Given the description of an element on the screen output the (x, y) to click on. 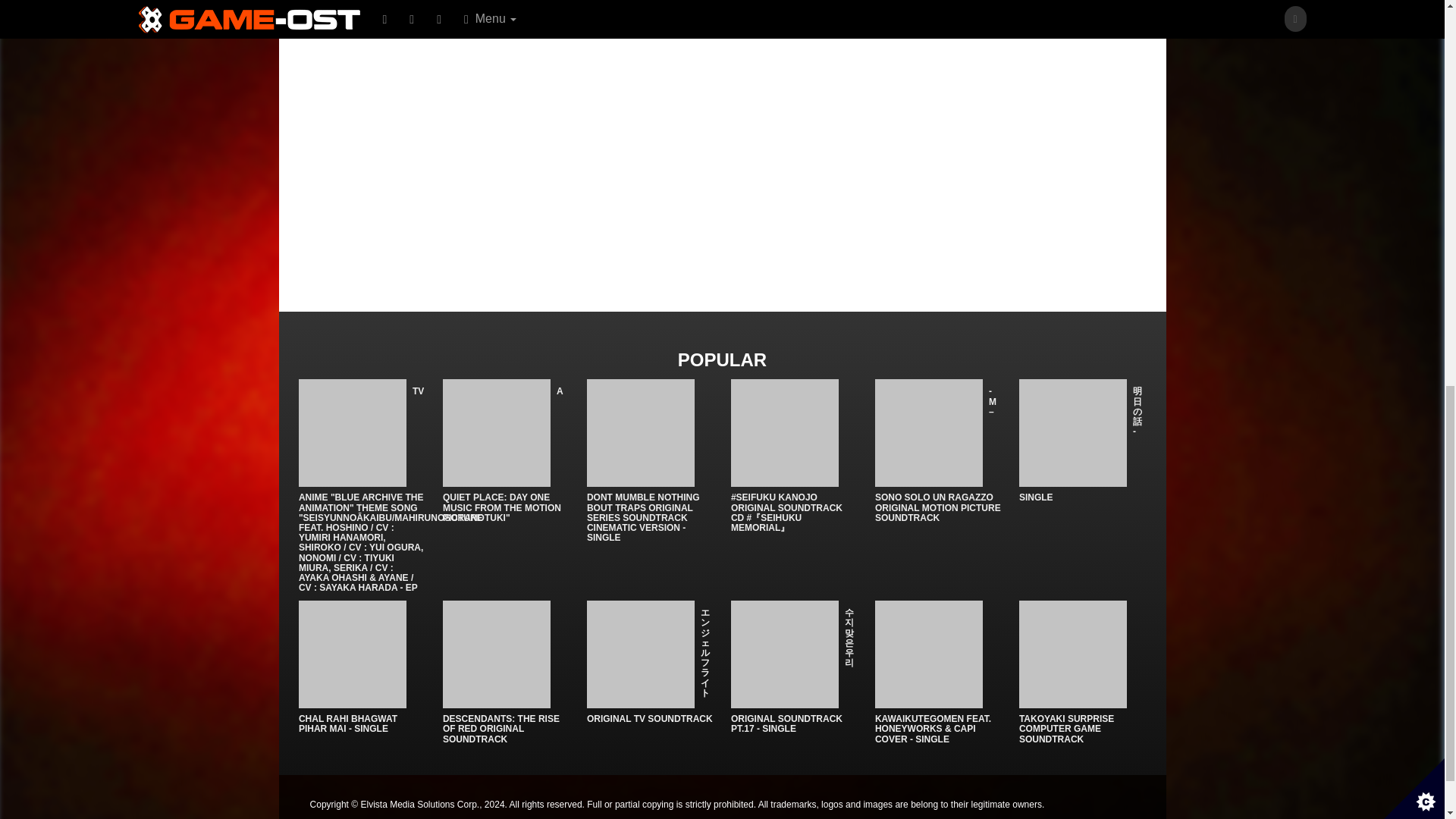
DESCENDANTS: THE RISE OF RED ORIGINAL SOUNDTRACK (500, 728)
Advertisement (577, 146)
POPULAR (722, 359)
  G-OST (837, 12)
CHAL RAHI BHAGWAT PIHAR MAI - SINGLE (347, 723)
